Given the description of an element on the screen output the (x, y) to click on. 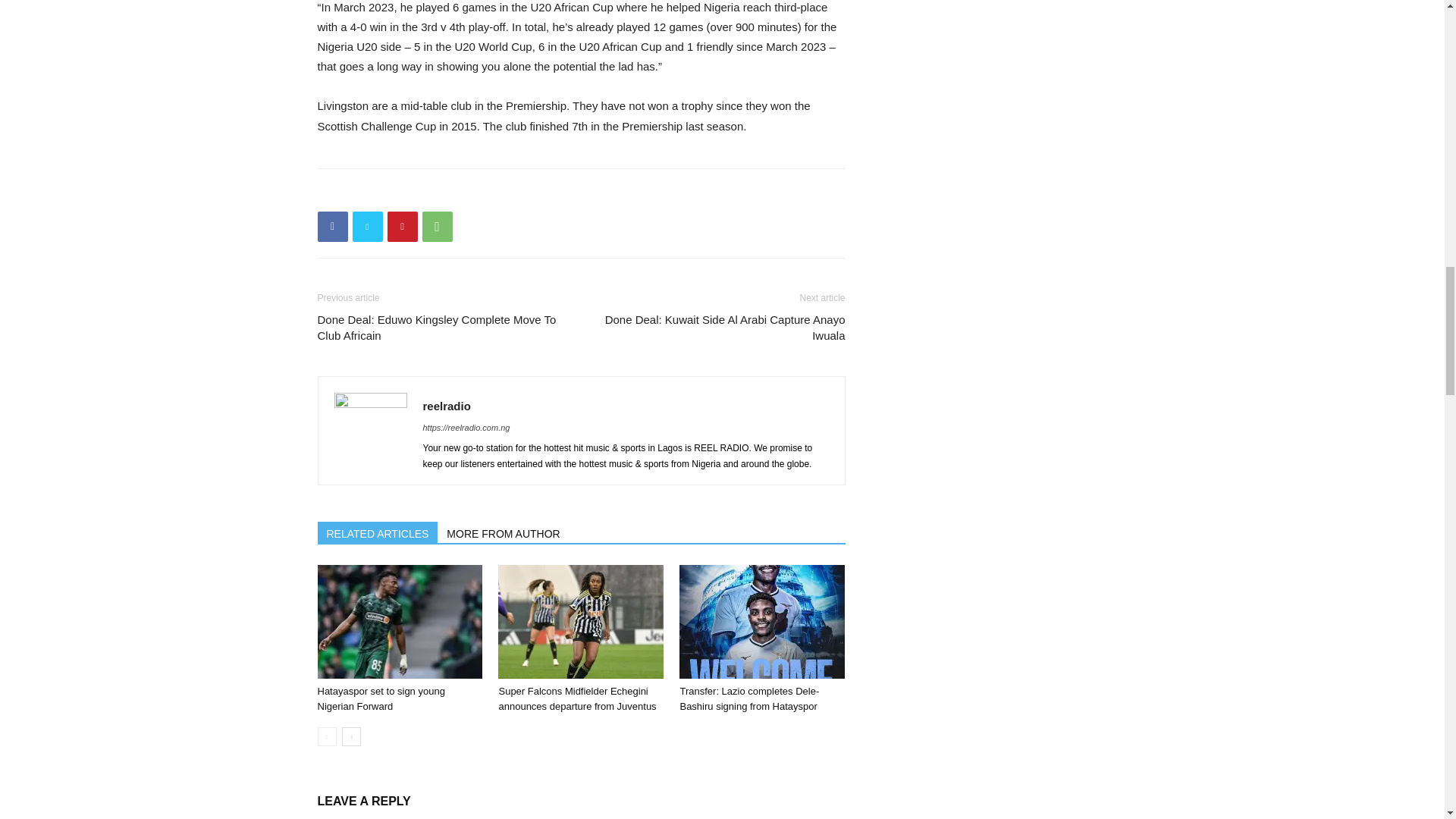
Pinterest (401, 226)
WhatsApp (436, 226)
Twitter (366, 226)
Facebook (332, 226)
